Given the description of an element on the screen output the (x, y) to click on. 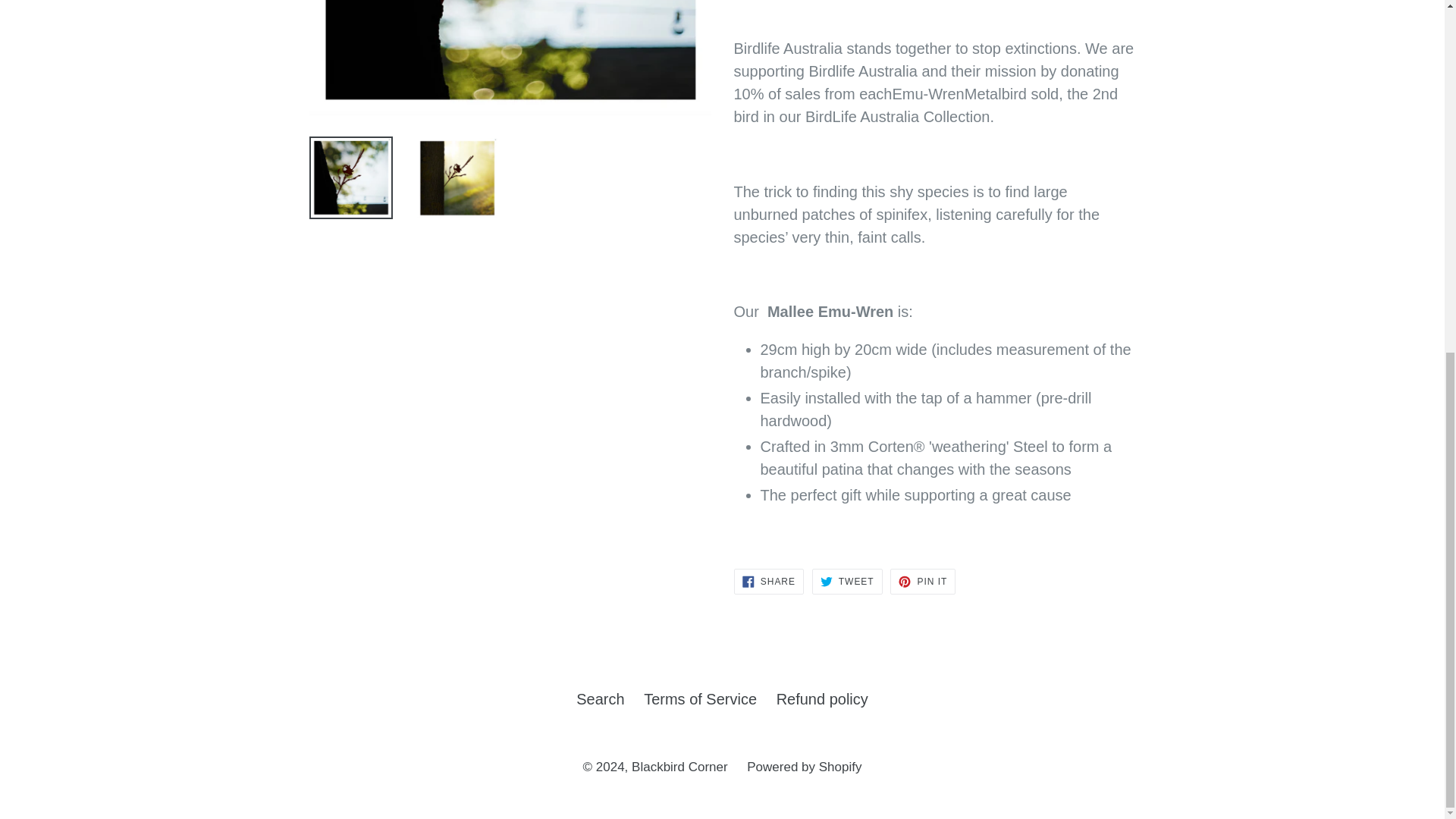
Share on Facebook (768, 581)
Tweet on Twitter (847, 581)
Pin on Pinterest (922, 581)
